Given the description of an element on the screen output the (x, y) to click on. 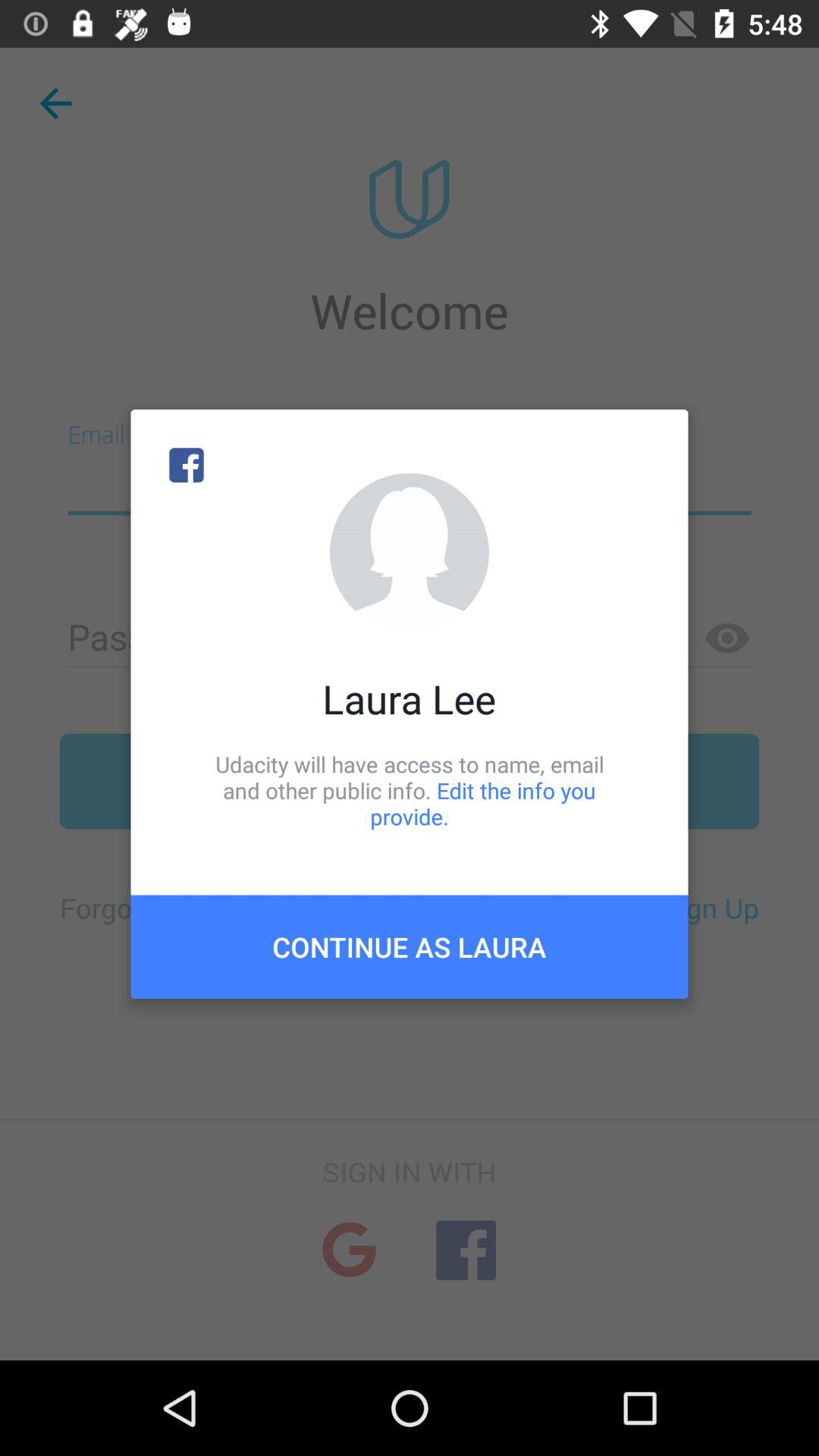
press item below laura lee item (409, 790)
